Given the description of an element on the screen output the (x, y) to click on. 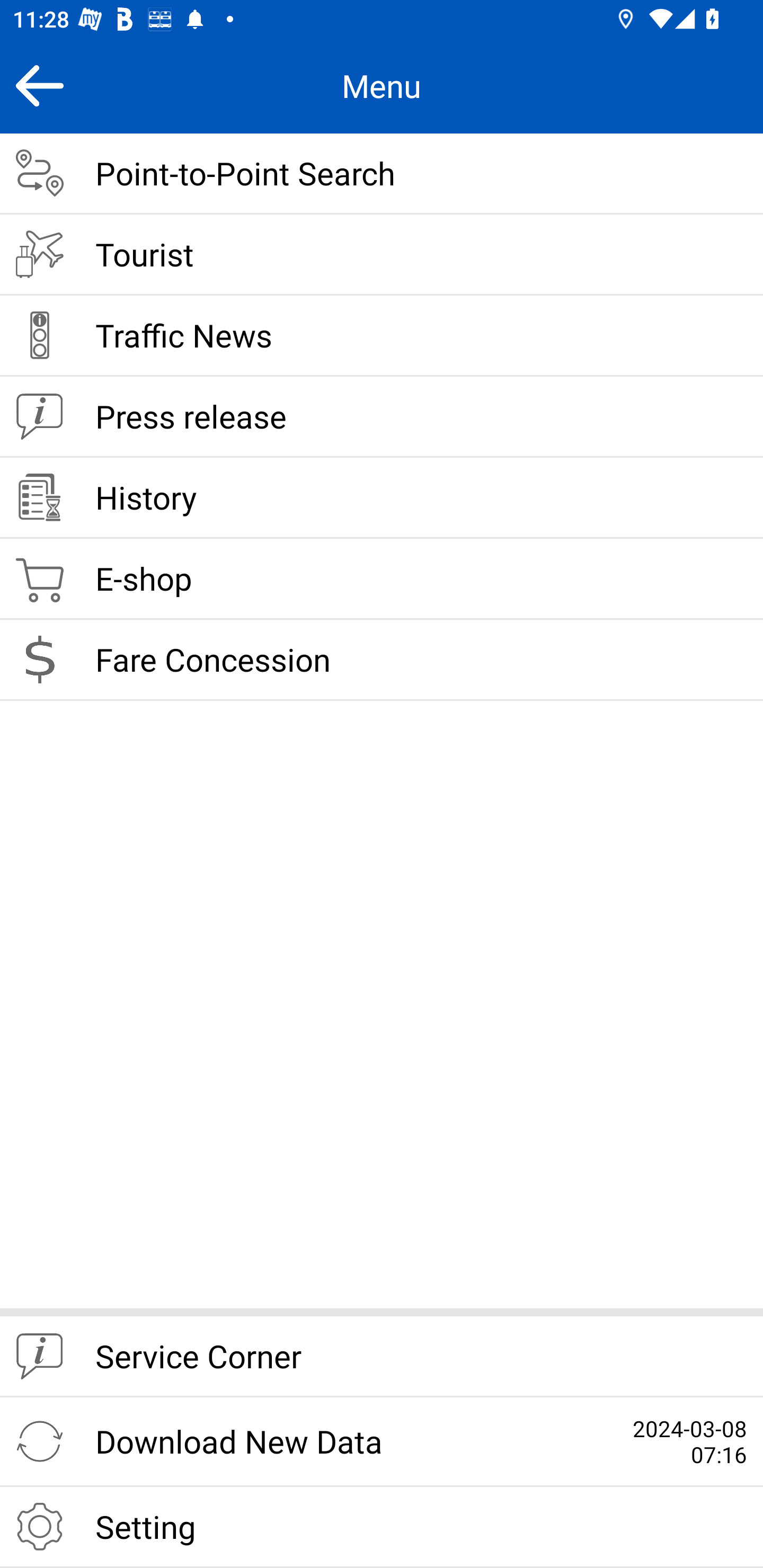
Back (39, 85)
Point-to-Point Search (381, 173)
Tourist (381, 255)
Traffic News (381, 336)
Press release (381, 416)
History (381, 498)
E-shop (381, 579)
Fare Concession (381, 659)
Service Corner (381, 1357)
Download New Data 2024-03-08
07:16 (381, 1441)
Setting (381, 1527)
